Given the description of an element on the screen output the (x, y) to click on. 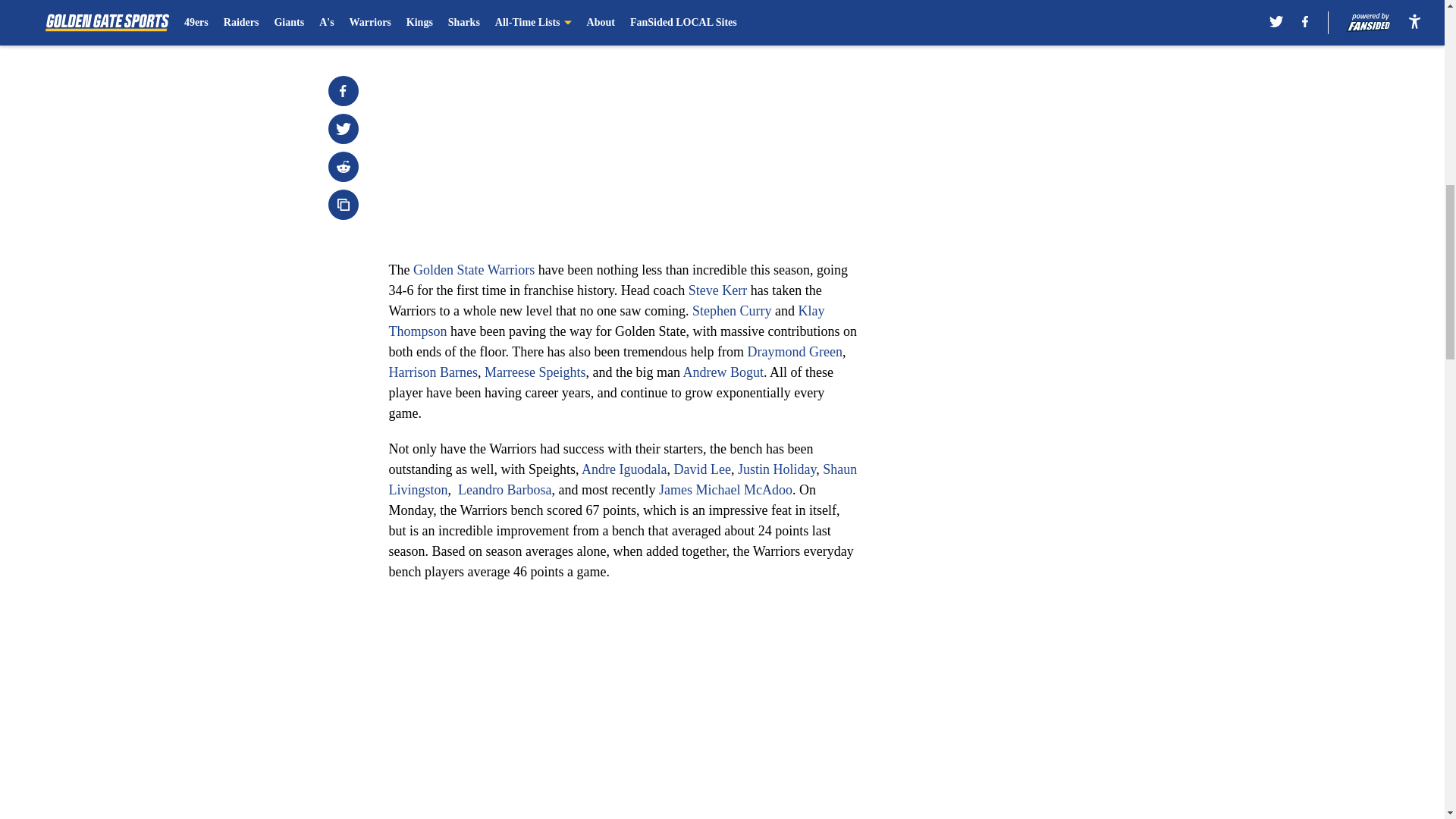
Golden State Warriors (473, 269)
Leandro Barbosa (504, 489)
David Lee (701, 468)
Shaun Livingston (622, 479)
Marreese Speights (534, 372)
Stephen Curry (732, 310)
Draymond Green (795, 351)
Klay Thompson (606, 321)
Steve Kerr (717, 290)
Andre Iguodala (623, 468)
